Given the description of an element on the screen output the (x, y) to click on. 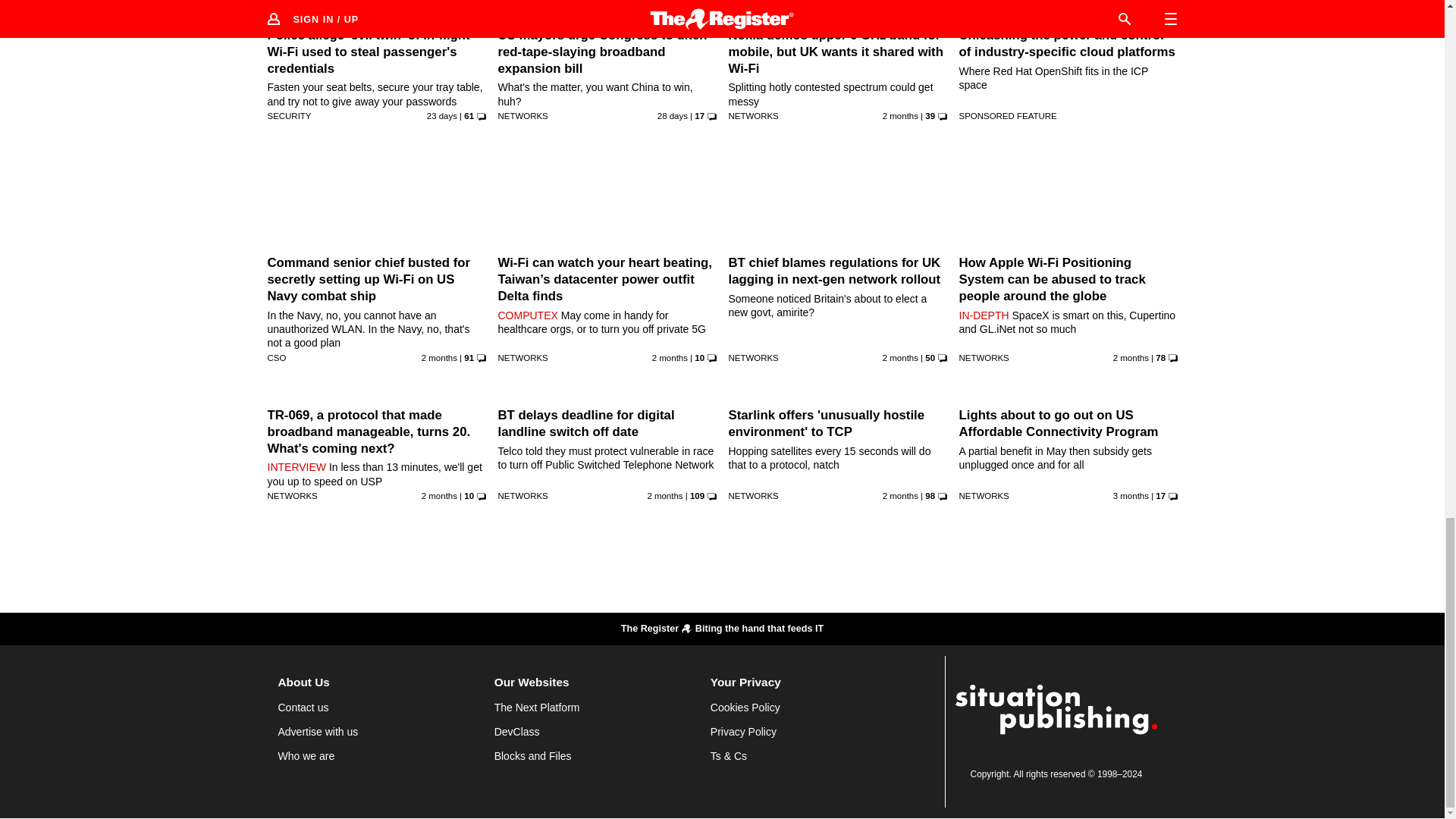
6 Jun 2024 9:33 (900, 357)
21 May 2024 9:29 (664, 495)
6 Jun 2024 5:28 (669, 357)
23 May 2024 6:34 (1130, 357)
23 May 2024 9:4 (439, 495)
25 Jun 2024 22:20 (672, 115)
1 Jul 2024 5:45 (441, 115)
4 Jun 2024 20:4 (439, 357)
5 Jun 2024 10:27 (900, 115)
